Given the description of an element on the screen output the (x, y) to click on. 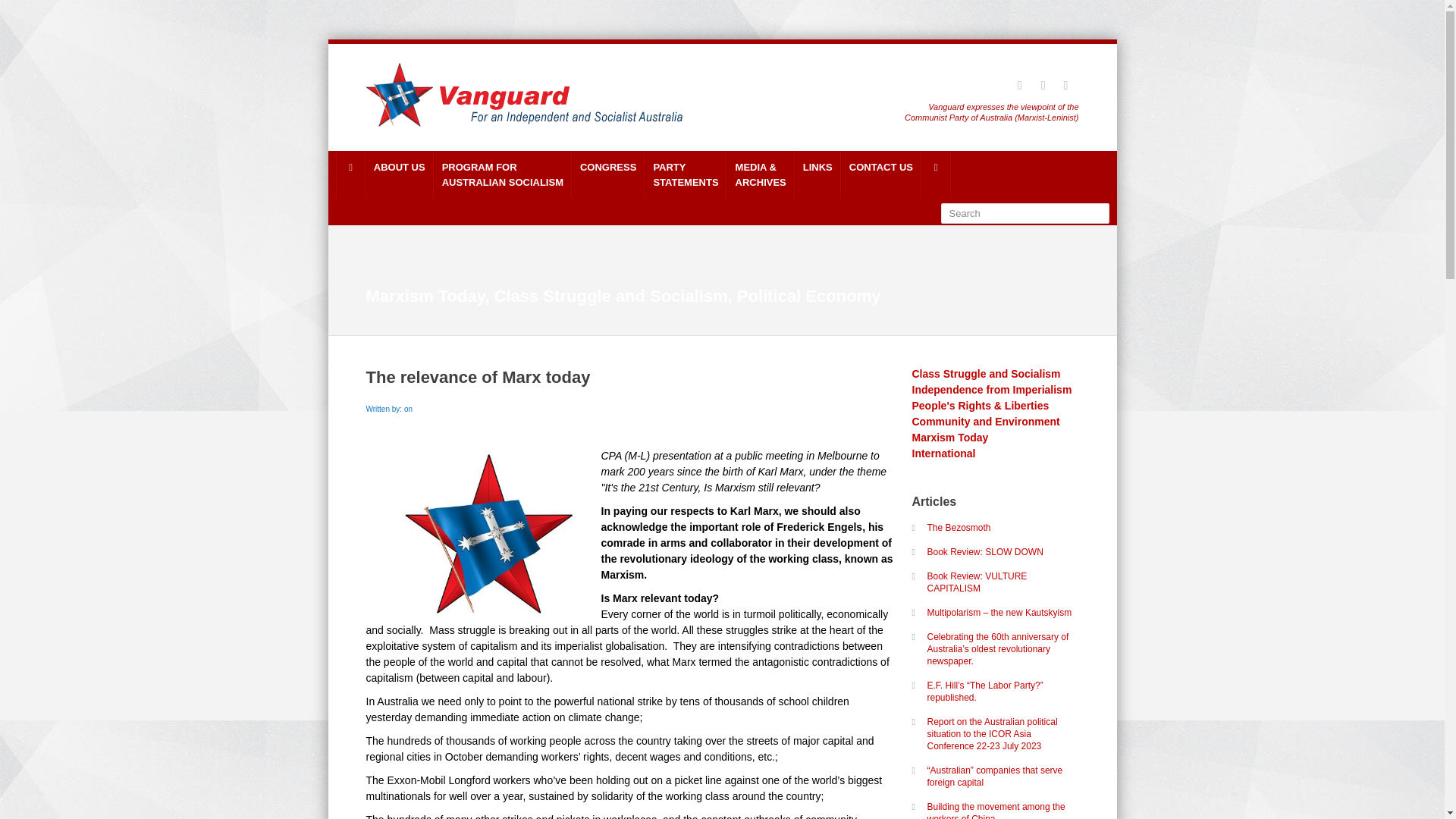
Search (398, 174)
Search (607, 174)
